Given the description of an element on the screen output the (x, y) to click on. 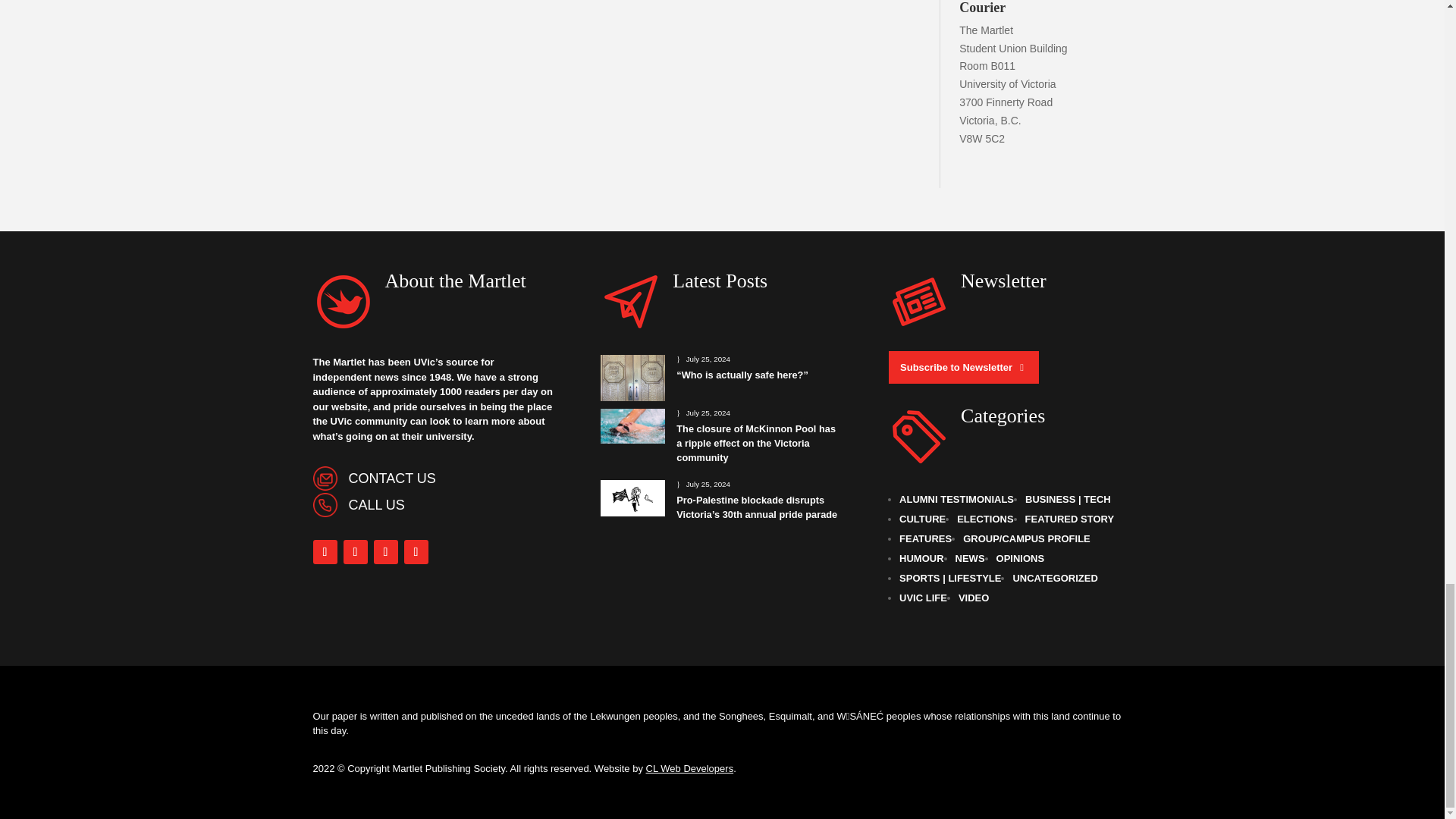
Follow on Instagram (354, 551)
Follow on Facebook (324, 551)
Follow on X (384, 551)
Follow on TikTok (415, 551)
